Given the description of an element on the screen output the (x, y) to click on. 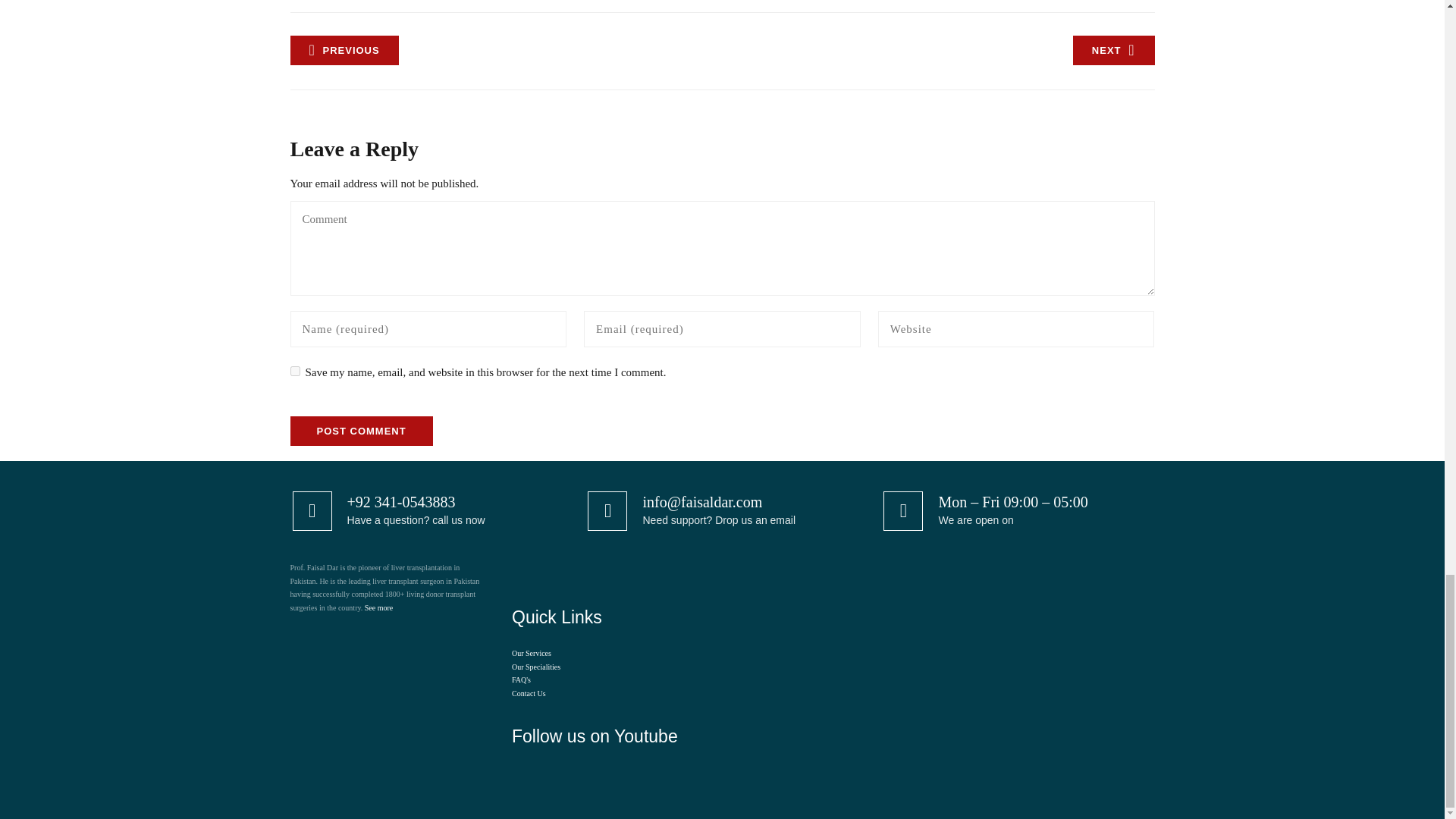
Our Services (531, 653)
Our Specialities (536, 666)
FAQ's (521, 679)
Contact Us (529, 693)
Health Benefits of Plums (343, 50)
CAUSES OF OBESITY AND ITS BEST  TREATMENT (1113, 50)
yes (294, 370)
Post Comment (360, 430)
PREVIOUS (343, 50)
See more (379, 607)
